Given the description of an element on the screen output the (x, y) to click on. 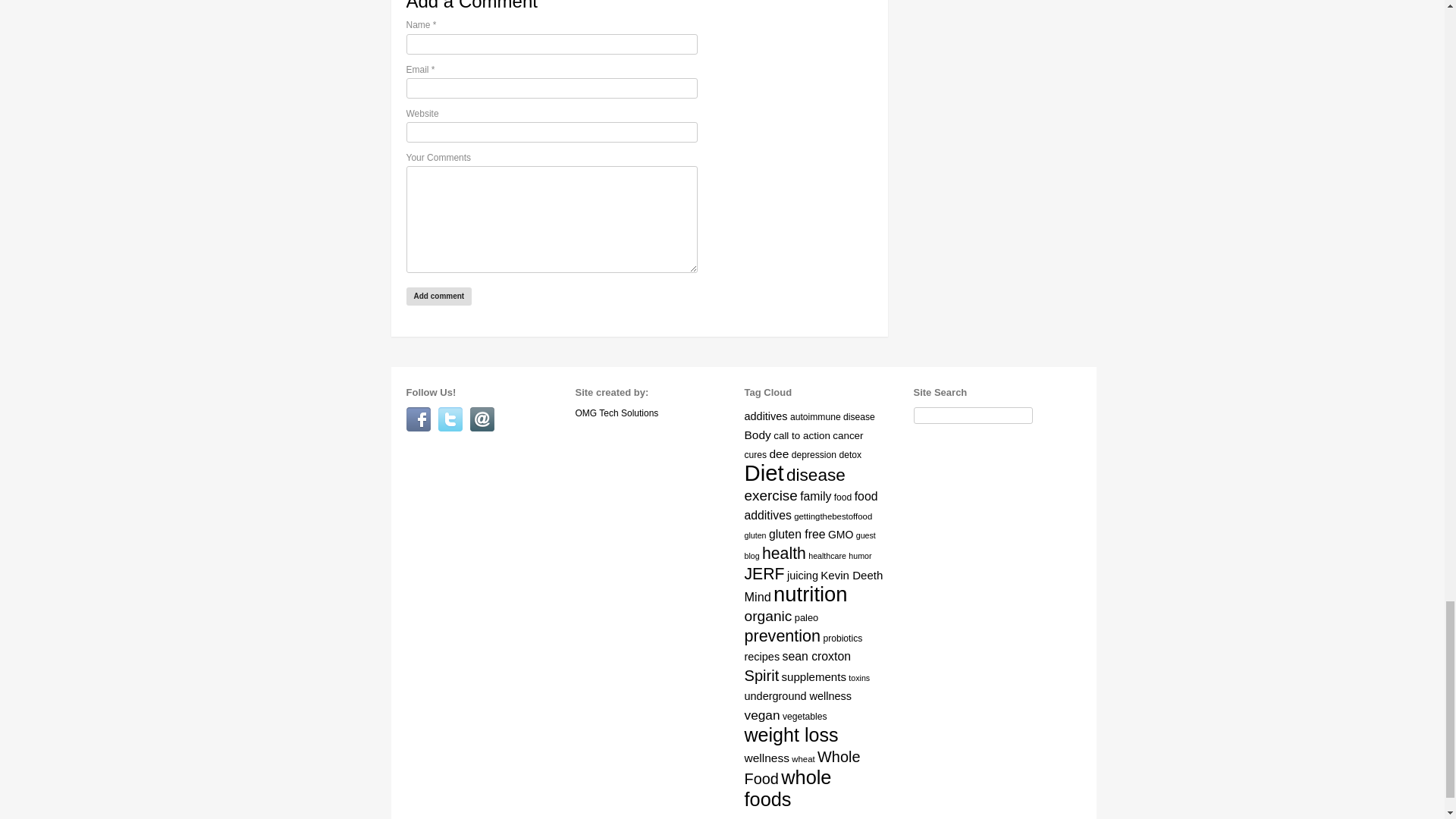
Add comment (438, 296)
Search (921, 430)
Search (921, 430)
Add comment (438, 296)
